Given the description of an element on the screen output the (x, y) to click on. 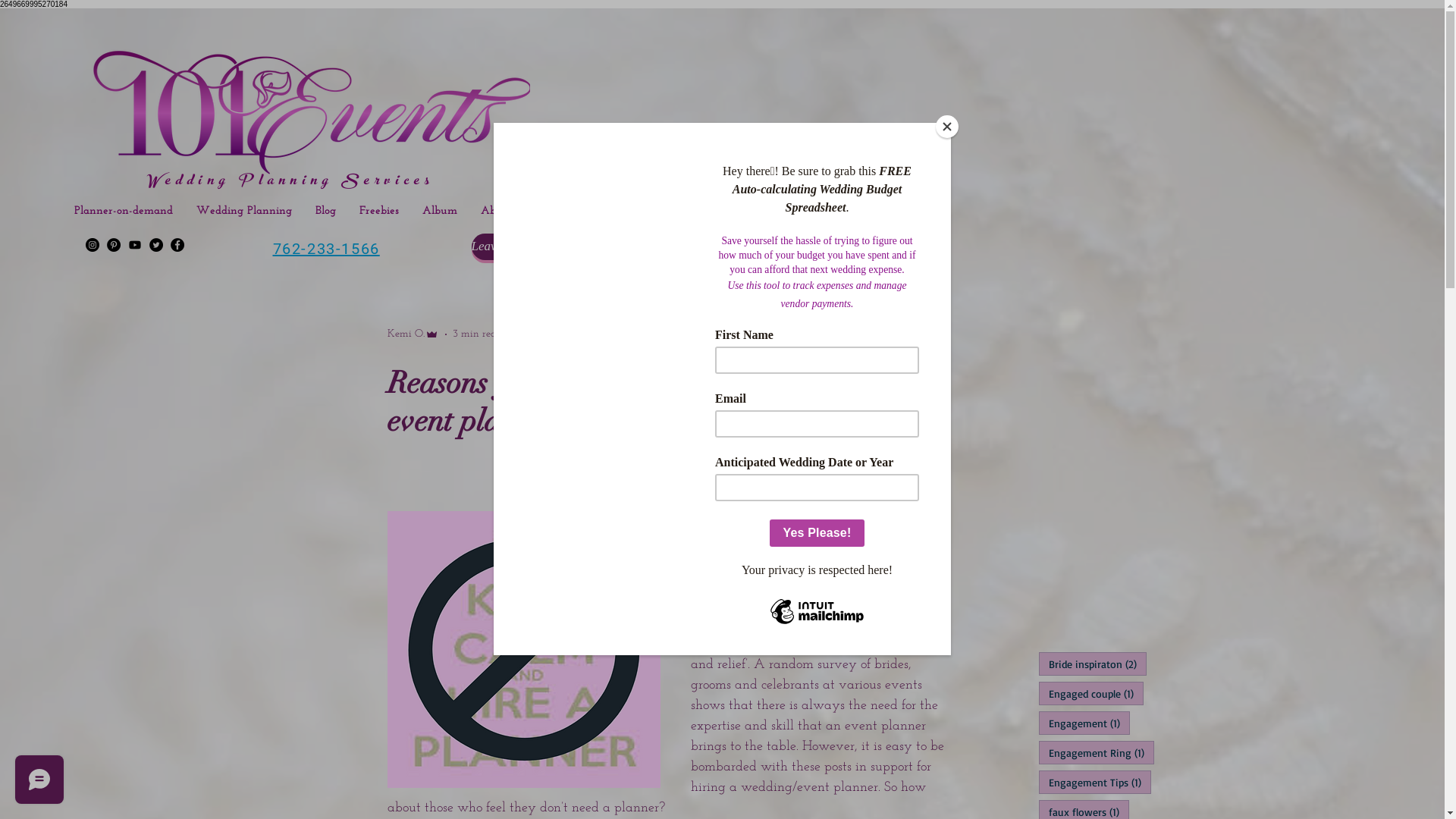
Album Element type: text (438, 211)
Atlanta Wedding Planner Element type: hover (309, 102)
About Element type: text (495, 211)
Leave me a message Element type: text (524, 246)
Planner-on-demand Element type: text (123, 211)
Engagement Tips (1)
1 post Element type: text (1094, 781)
Engagement (1)
1 post Element type: text (1083, 722)
Contact Element type: text (553, 211)
762-233-1566 Element type: text (326, 243)
Freebies Element type: text (378, 211)
Kemi O. Element type: text (412, 334)
Engagement Ring (1)
1 post Element type: text (1096, 752)
Bride inspiraton (2)
2 posts Element type: text (1092, 663)
Engaged couple (1)
1 post Element type: text (1090, 693)
Embedded Content Element type: hover (67, 91)
Blog Element type: text (325, 211)
